Given the description of an element on the screen output the (x, y) to click on. 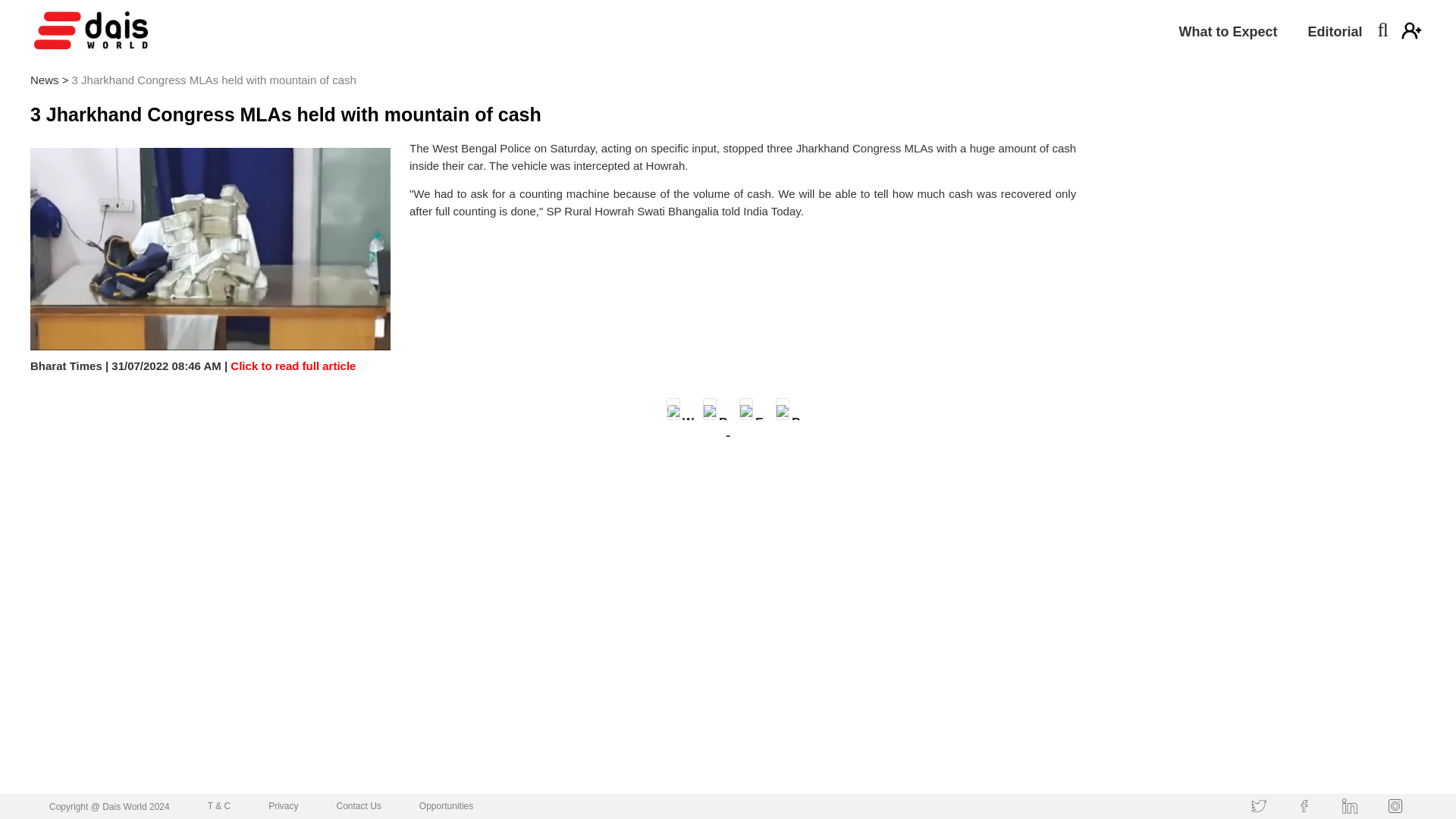
3 Jharkhand Congress MLAs held with mountain of cash (213, 79)
Click to read full article (291, 365)
What to Expect (1226, 34)
Editorial (1334, 34)
3 Jharkhand Congress MLAs held with mountain of cash (285, 113)
